Given the description of an element on the screen output the (x, y) to click on. 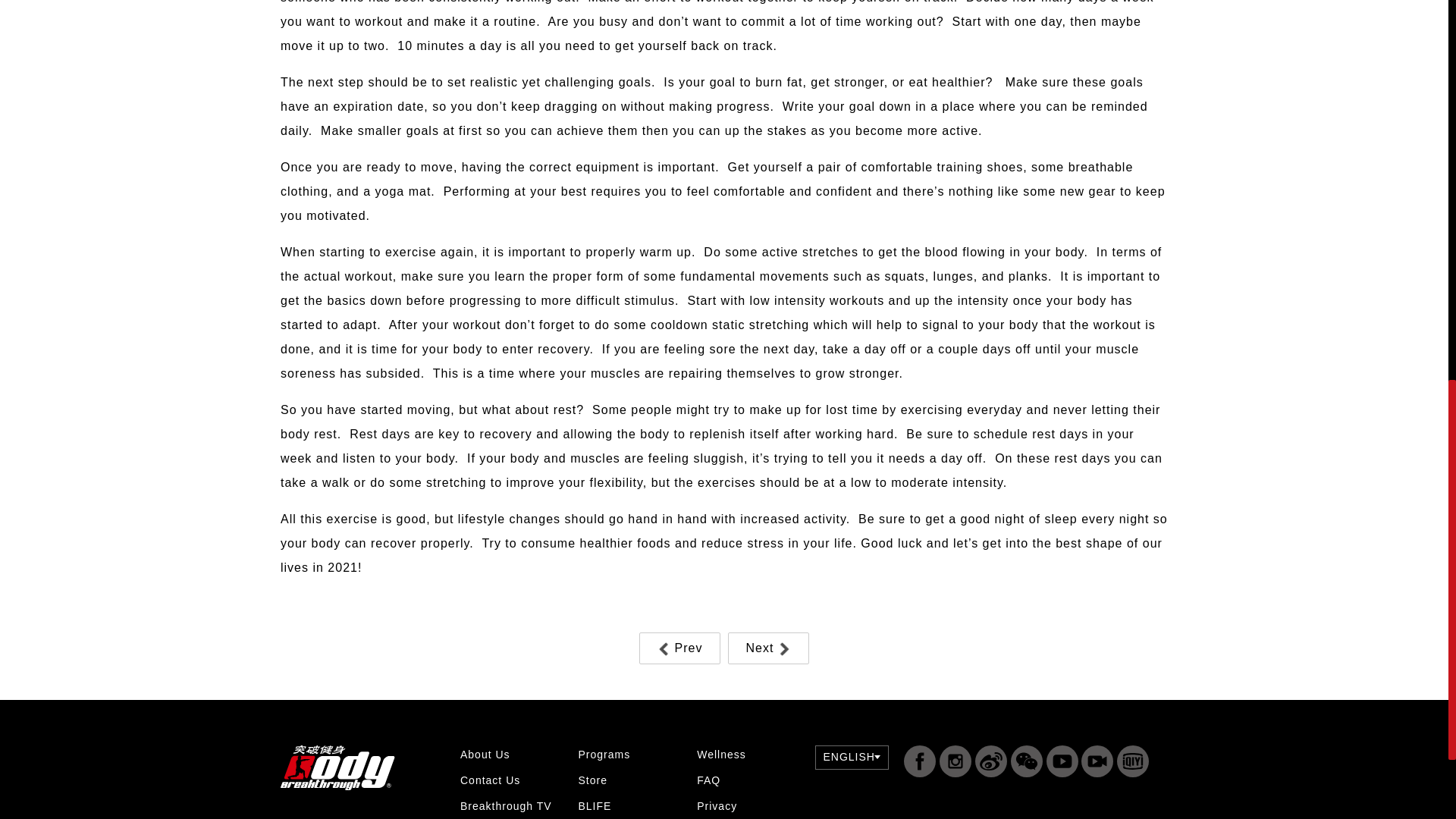
Store (592, 779)
Programs (604, 754)
About Us (485, 754)
Breakthrough TV (505, 806)
Prev (679, 648)
Next (768, 648)
Contact Us (489, 779)
